Given the description of an element on the screen output the (x, y) to click on. 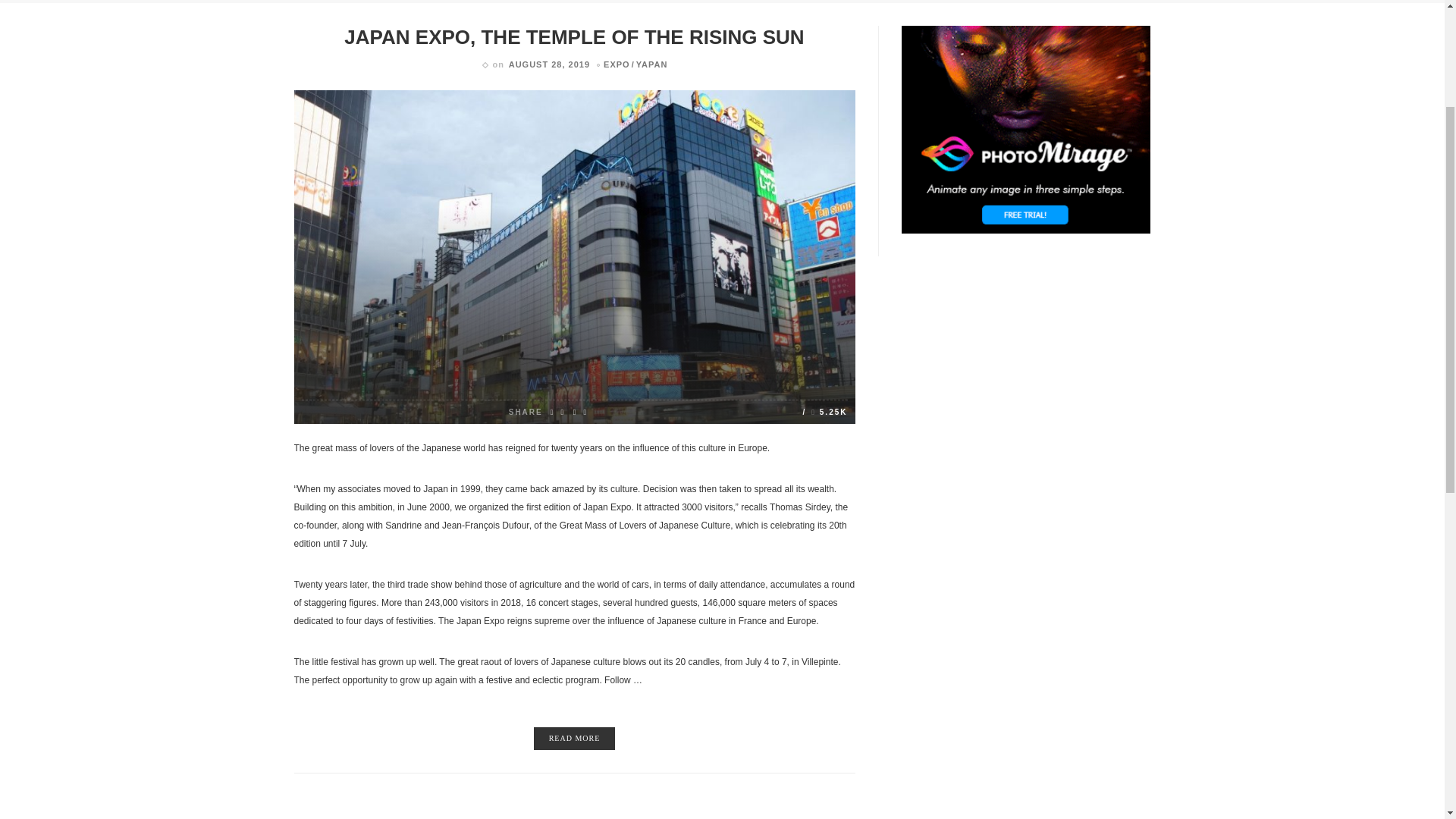
Godzilla in USA (312, 229)
Search (894, 404)
Godzilla in USA (382, 224)
Godzilla in America (393, 271)
Japan Expo, the Temple of the Rising Sun (575, 256)
GODZILLA IN USA (382, 224)
Search (894, 404)
Japan Expo, the Temple of the Rising Sun (824, 411)
Japan Expo, the Temple of the Rising Sun (573, 36)
Japan Expo, the Temple of the Rising Sun (312, 175)
JAPAN EXPO, THE TEMPLE OF THE RISING SUN (573, 36)
JAPAN EXPO, THE TEMPLE OF THE RISING SUN (409, 170)
Expo (617, 63)
Japan Expo, the Temple of the Rising Sun (409, 170)
GODZILLA IN AMERICA (393, 271)
